Given the description of an element on the screen output the (x, y) to click on. 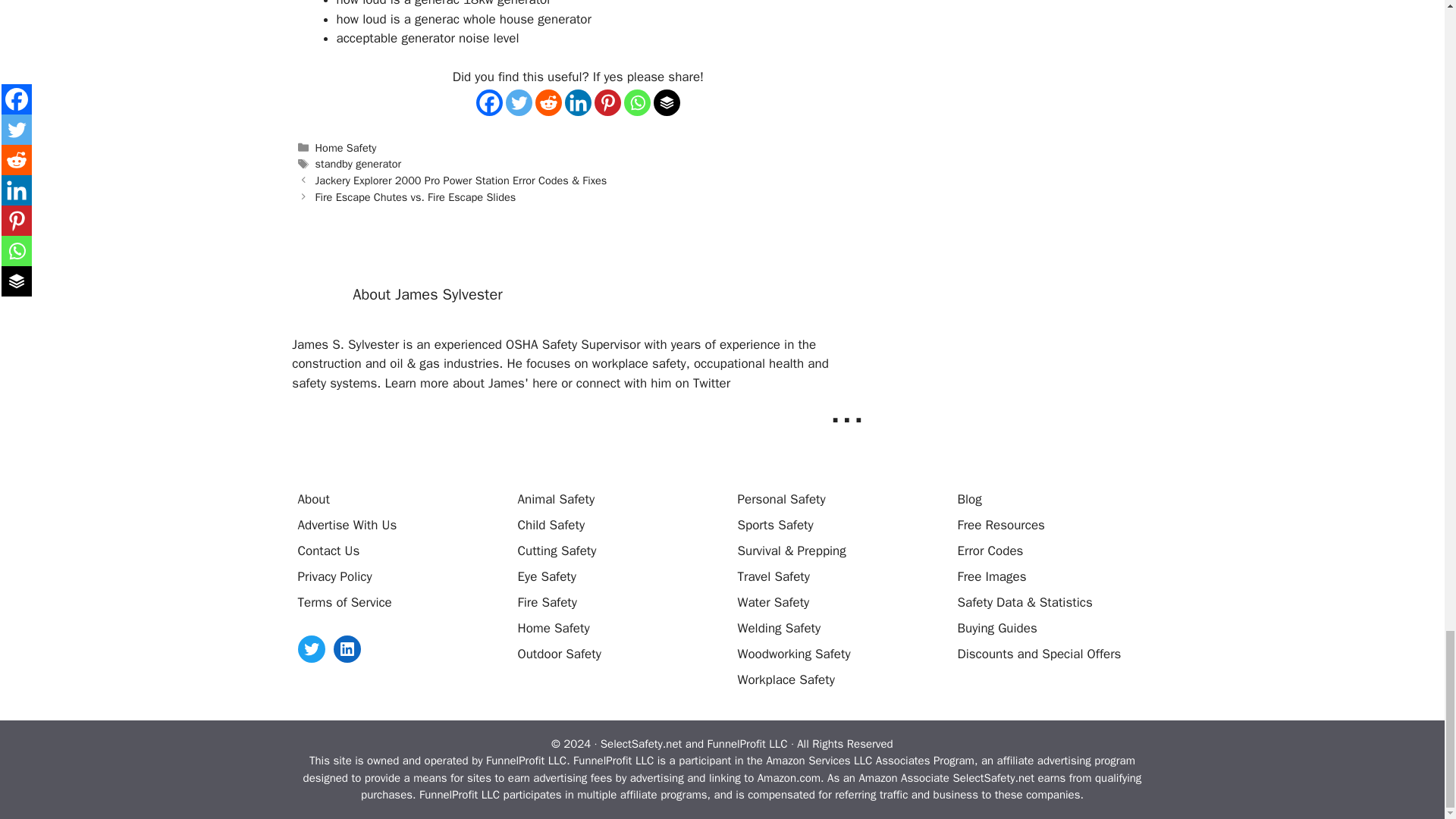
Whatsapp (637, 102)
Reddit (548, 102)
Facebook (489, 102)
Linkedin (577, 102)
Pinterest (607, 102)
Read more (846, 410)
Buffer (666, 102)
Twitter (518, 102)
